Given the description of an element on the screen output the (x, y) to click on. 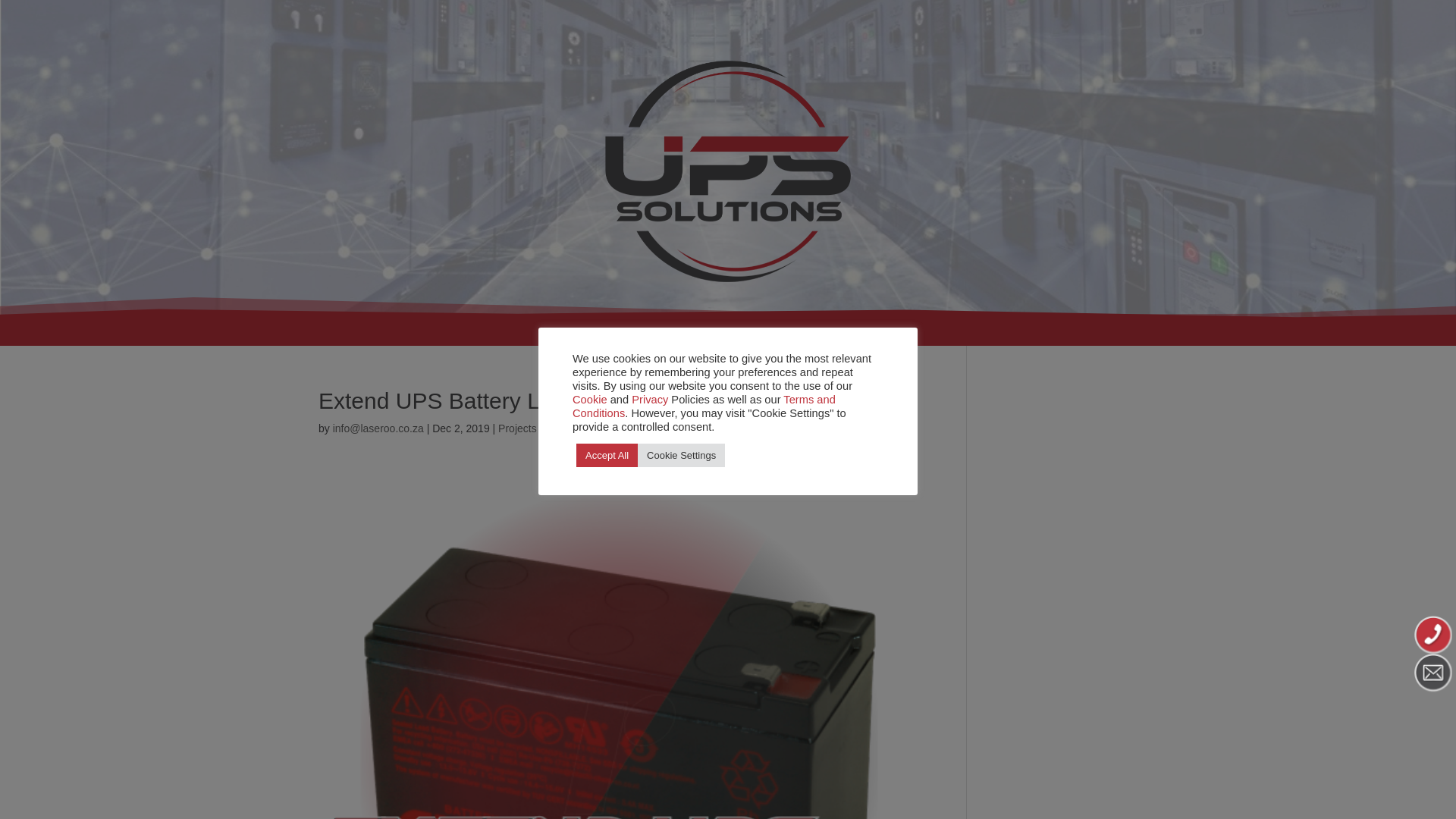
Cookie Settings (681, 454)
About Us (769, 337)
0 comments (573, 428)
FAQ (708, 337)
Contact Us (852, 337)
Cookie (589, 398)
Terms and Conditions (703, 405)
Services (574, 337)
Privacy (649, 398)
Accept All (606, 454)
Products (648, 337)
Projects (517, 428)
